Given the description of an element on the screen output the (x, y) to click on. 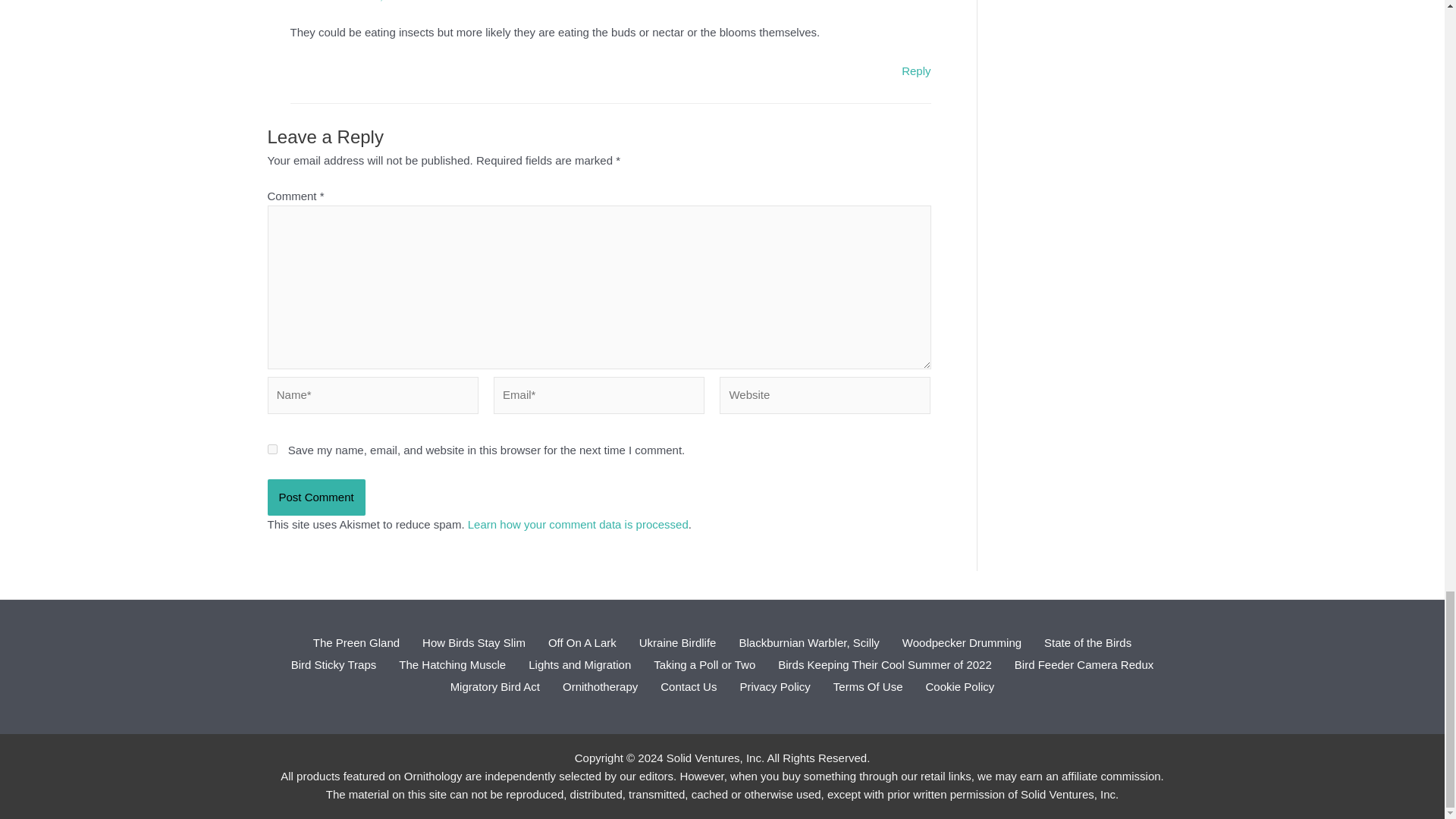
Post Comment (315, 497)
yes (271, 449)
